Given the description of an element on the screen output the (x, y) to click on. 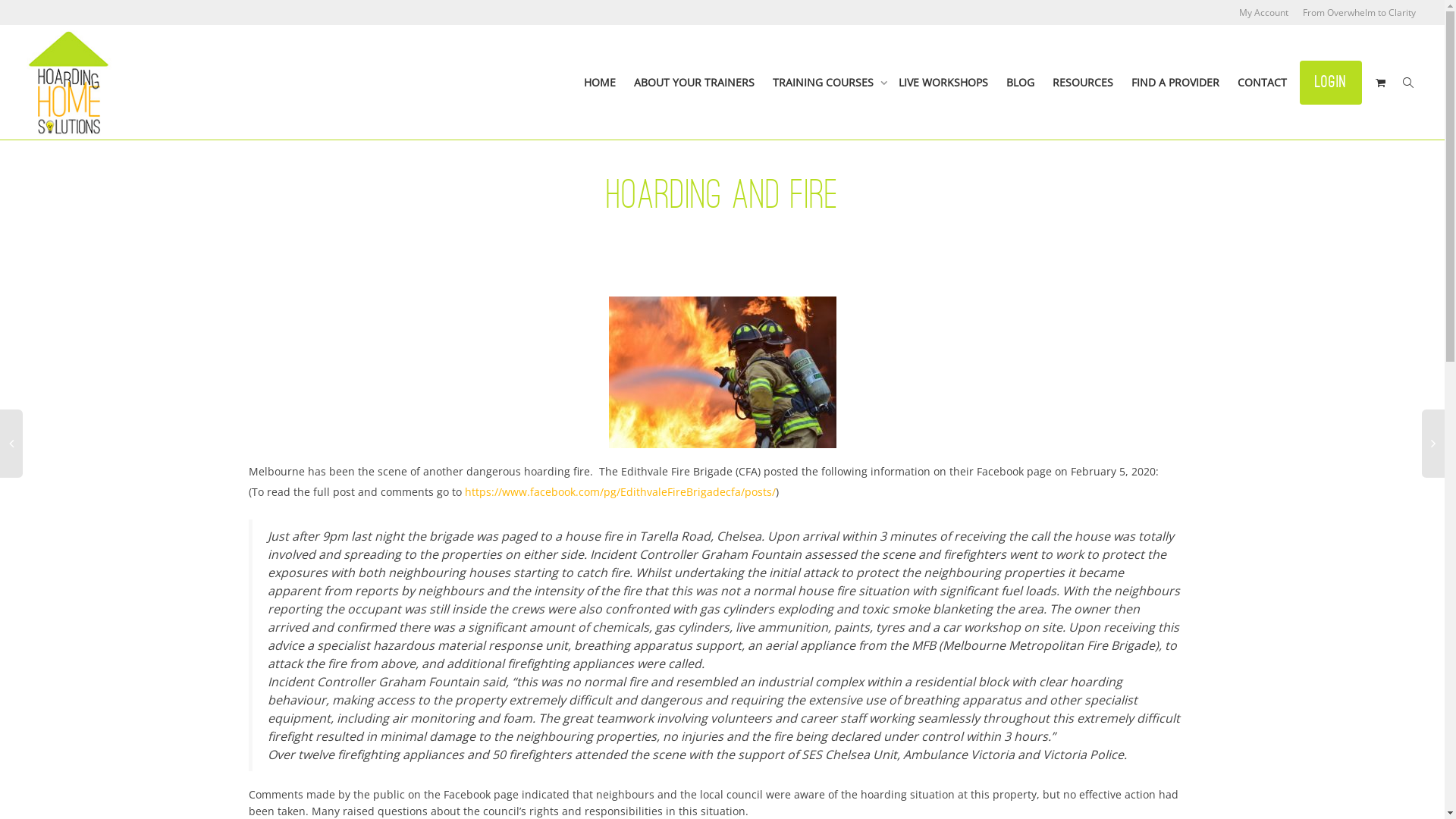
ABOUT YOUR TRAINERS Element type: text (693, 82)
LIVE WORKSHOPS Element type: text (943, 82)
CONTACT Element type: text (1261, 82)
From Overwhelm to Clarity Element type: text (1358, 12)
LOGIN Element type: text (1330, 81)
Hoarding Home Solutions Element type: hover (68, 82)
View cart Element type: hover (1379, 82)
My Account Element type: text (1263, 12)
BLOG Element type: text (1020, 82)
RESOURCES Element type: text (1082, 82)
FIND A PROVIDER Element type: text (1175, 82)
https://www.facebook.com/pg/EdithvaleFireBrigadecfa/posts/ Element type: text (619, 491)
HOME Element type: text (599, 82)
TRAINING COURSES Element type: text (826, 82)
